Given the description of an element on the screen output the (x, y) to click on. 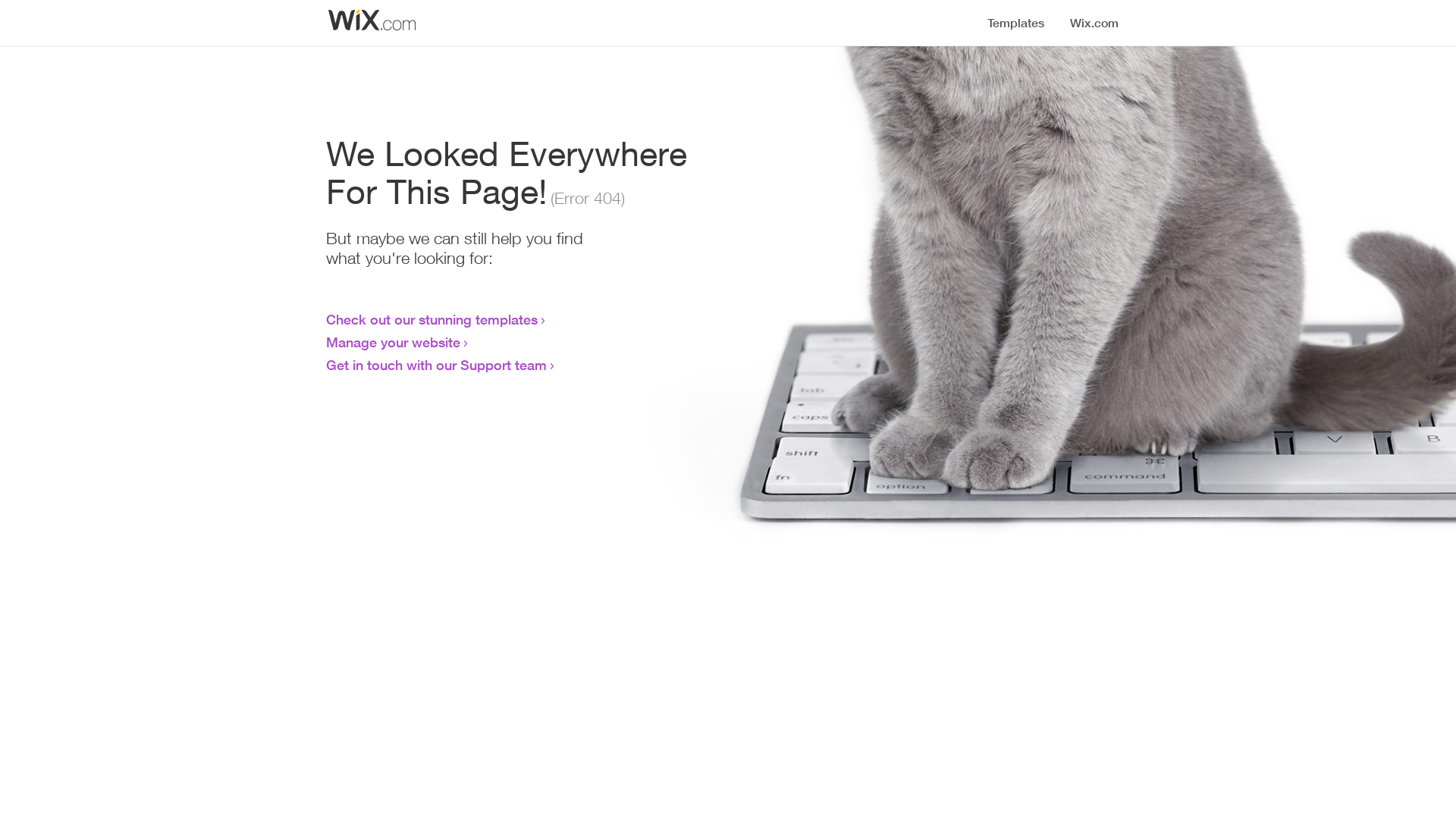
Manage your website Element type: text (393, 341)
Get in touch with our Support team Element type: text (436, 364)
Check out our stunning templates Element type: text (431, 318)
